Given the description of an element on the screen output the (x, y) to click on. 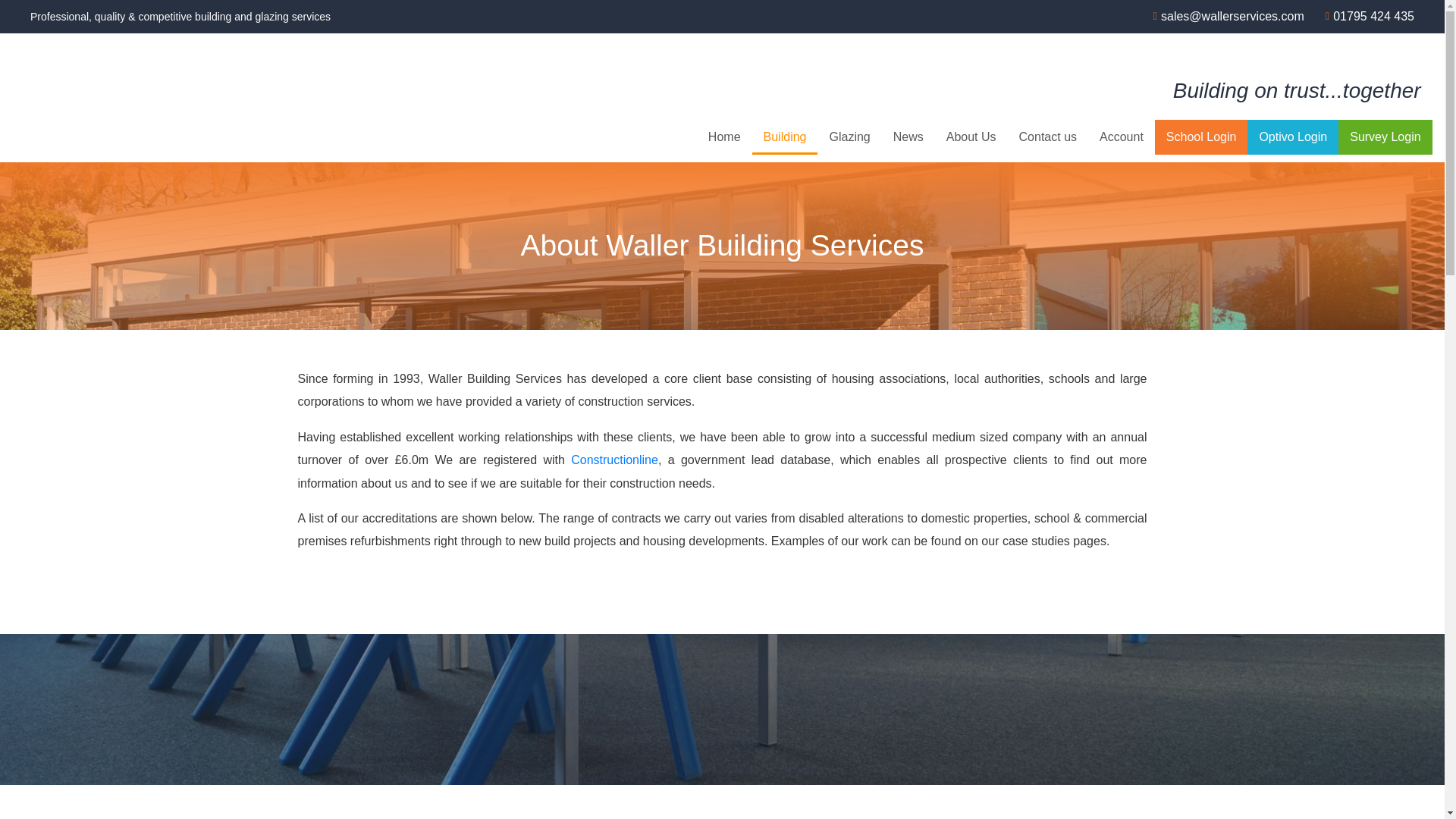
About Us (970, 136)
News (908, 136)
Glazing (848, 136)
Contact us (1047, 136)
Building (785, 136)
Home (724, 136)
01795 424 435 (1364, 16)
